Given the description of an element on the screen output the (x, y) to click on. 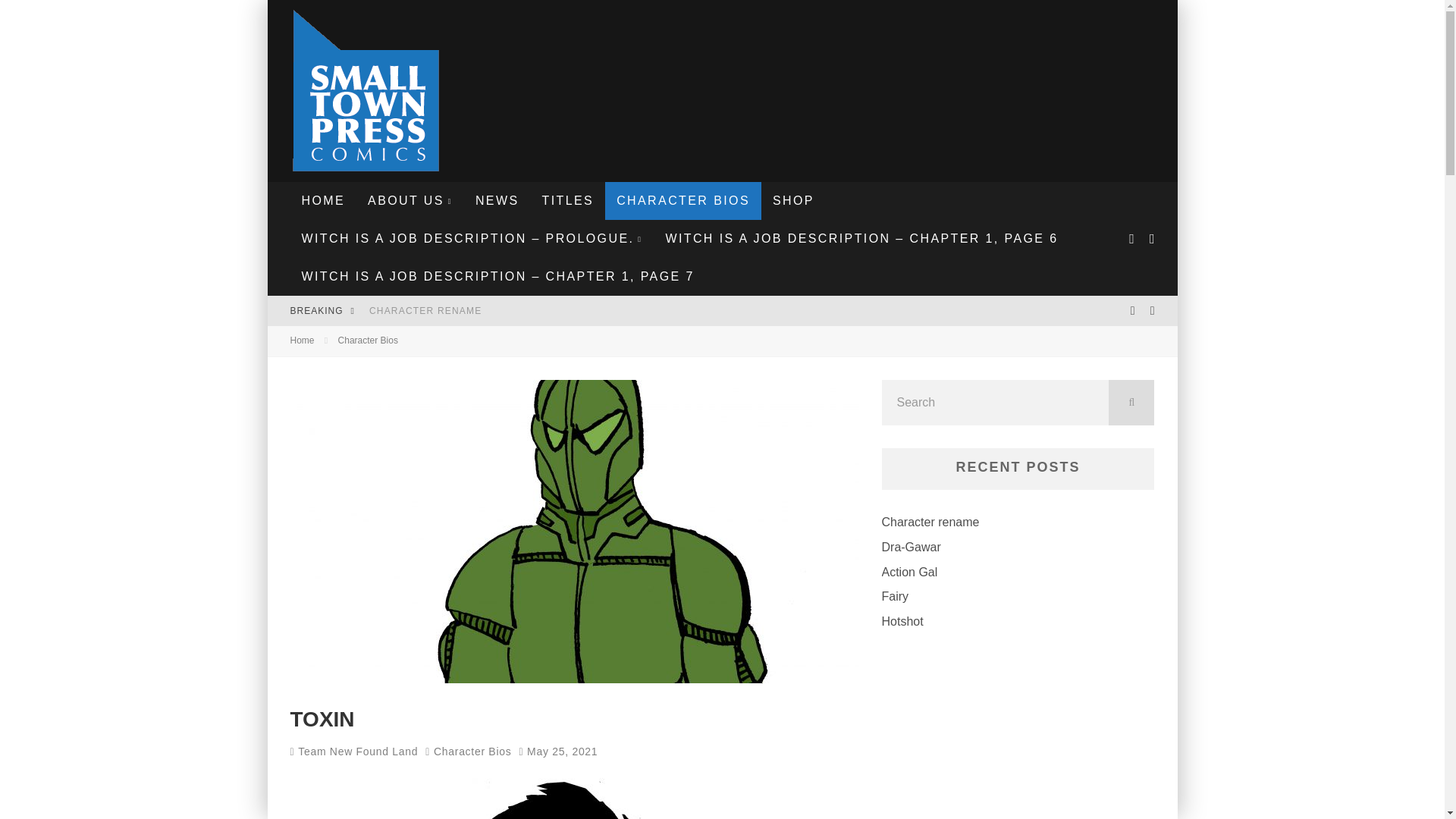
HOME (322, 200)
NEWS (497, 200)
TITLES (567, 200)
Character rename (425, 310)
ABOUT US (410, 200)
CHARACTER BIOS (683, 200)
